Given the description of an element on the screen output the (x, y) to click on. 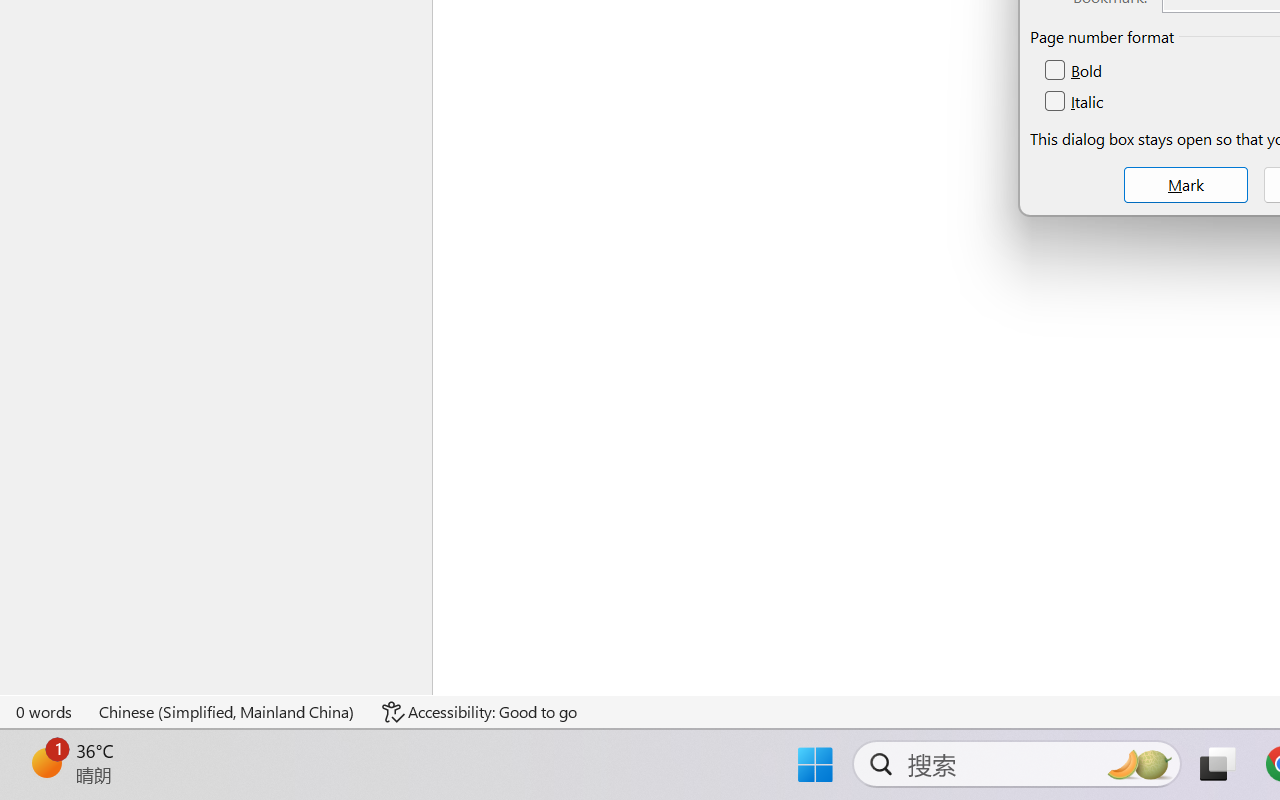
Mark (1185, 185)
Language Chinese (Simplified, Mainland China) (227, 712)
